Given the description of an element on the screen output the (x, y) to click on. 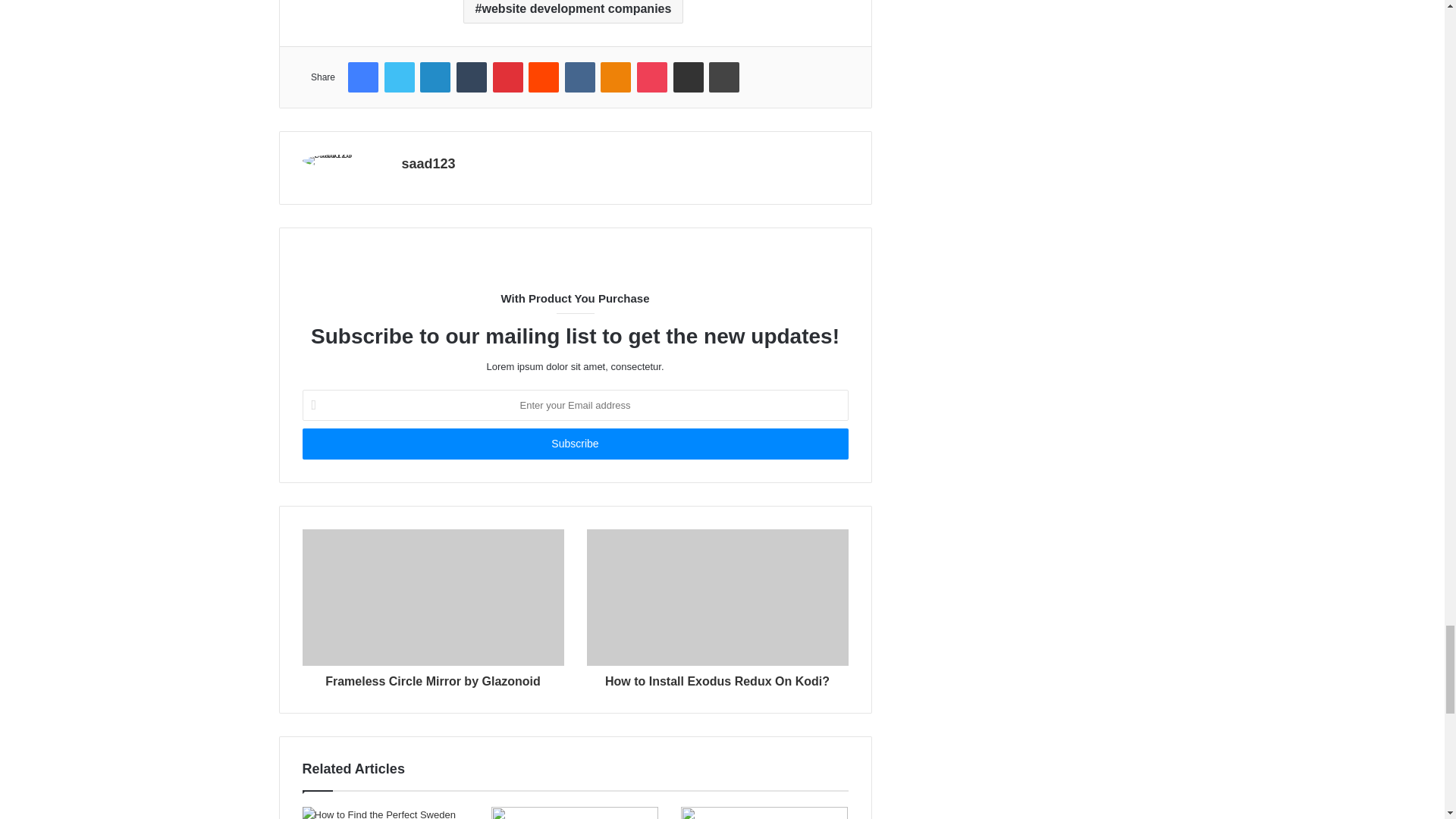
Subscribe (574, 443)
